Given the description of an element on the screen output the (x, y) to click on. 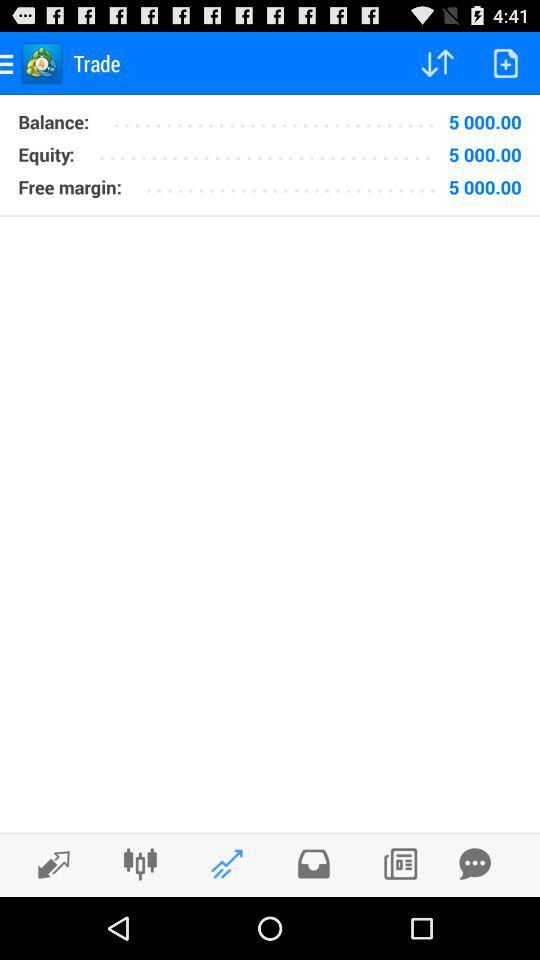
sharing message (475, 864)
